Given the description of an element on the screen output the (x, y) to click on. 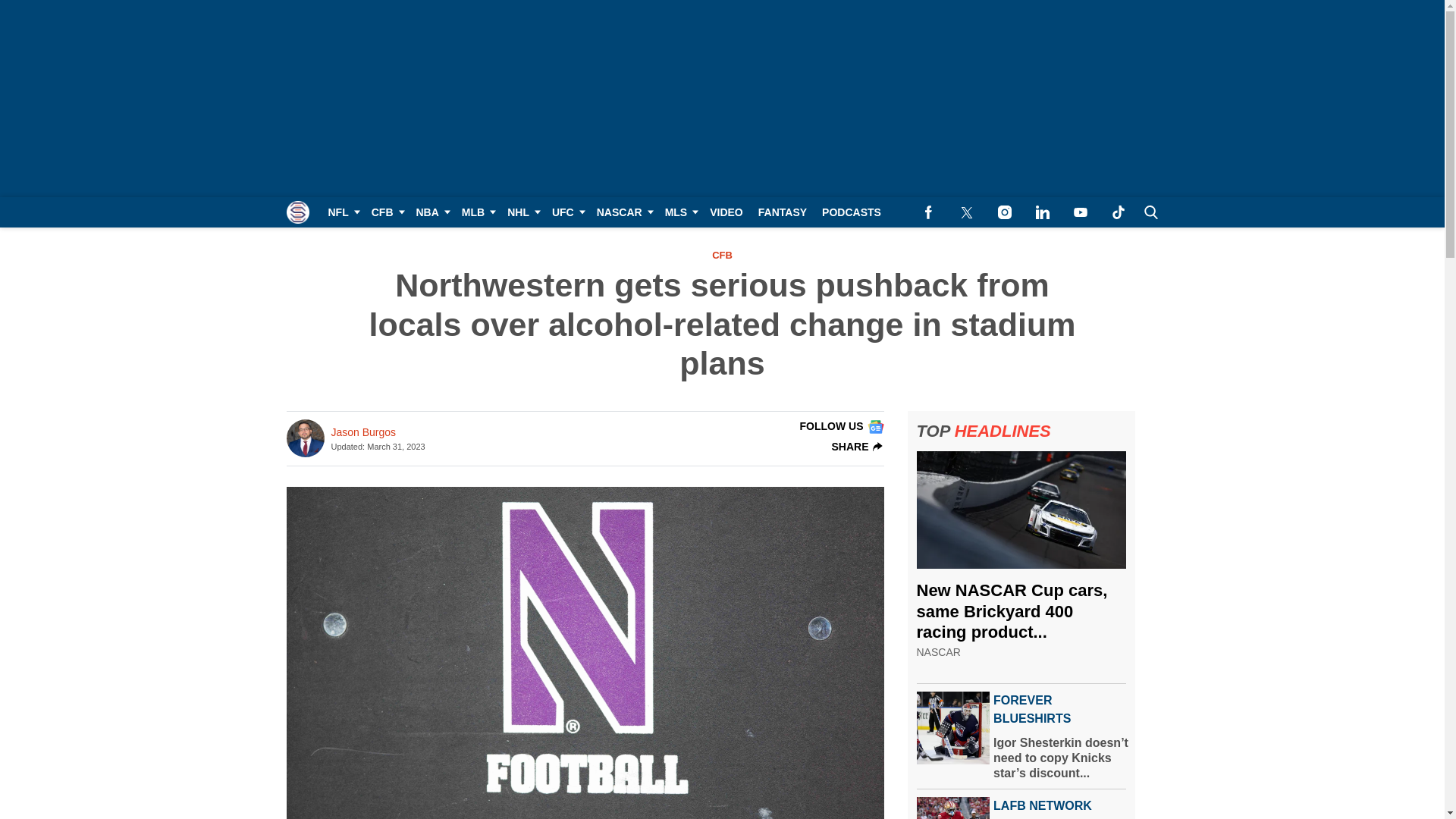
NBA (429, 212)
Subscribe to our YouTube channel (1080, 212)
NFL (341, 212)
Connect with us on LinkedIn (1042, 212)
Posts by Jason Burgos (363, 432)
Follow us on Facebook (928, 212)
Follow us on Twitter (966, 212)
NHL (521, 212)
CFB (386, 212)
MLB (476, 212)
